Given the description of an element on the screen output the (x, y) to click on. 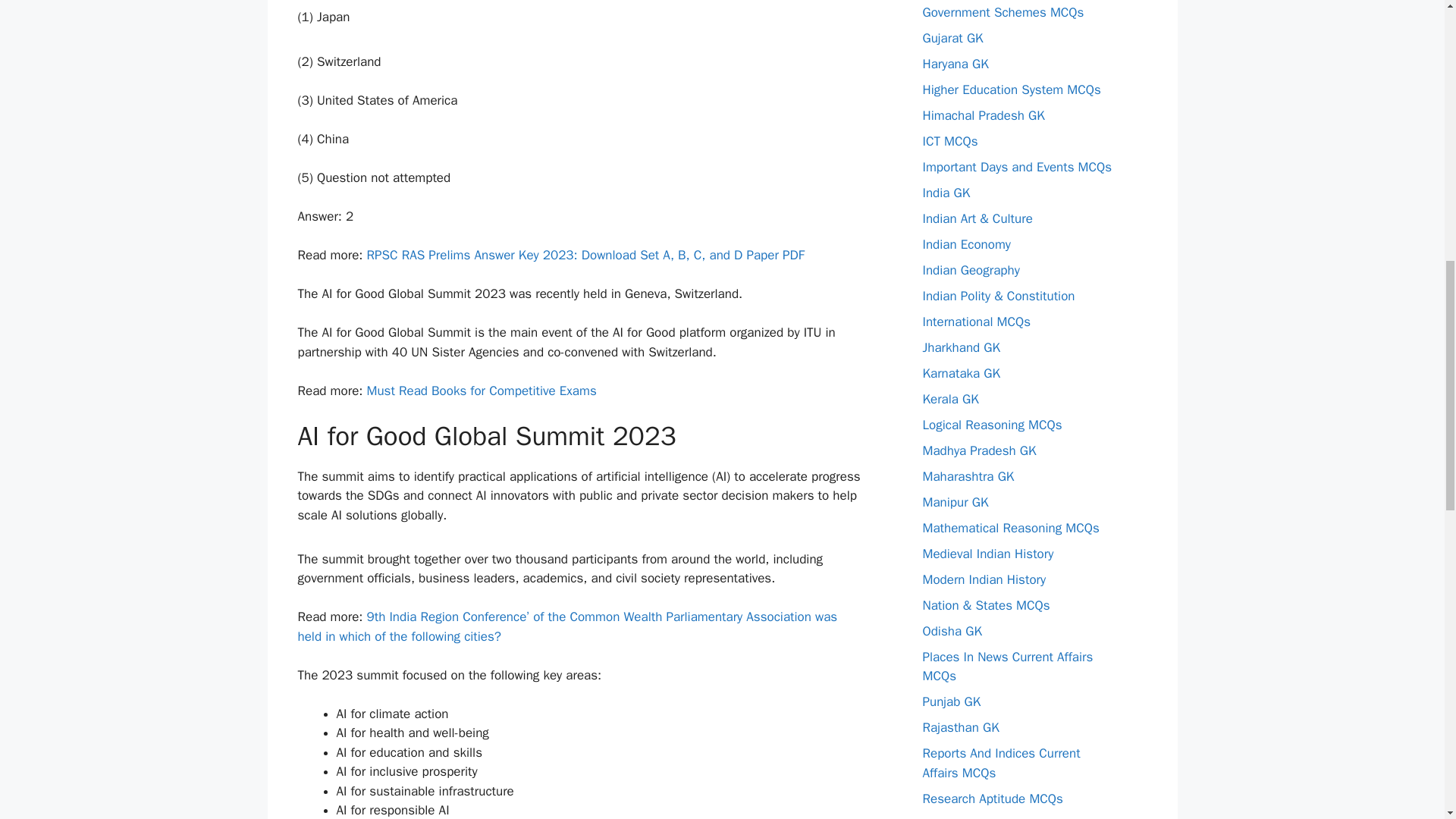
Must Read Books for Competitive Exams (481, 390)
